Given the description of an element on the screen output the (x, y) to click on. 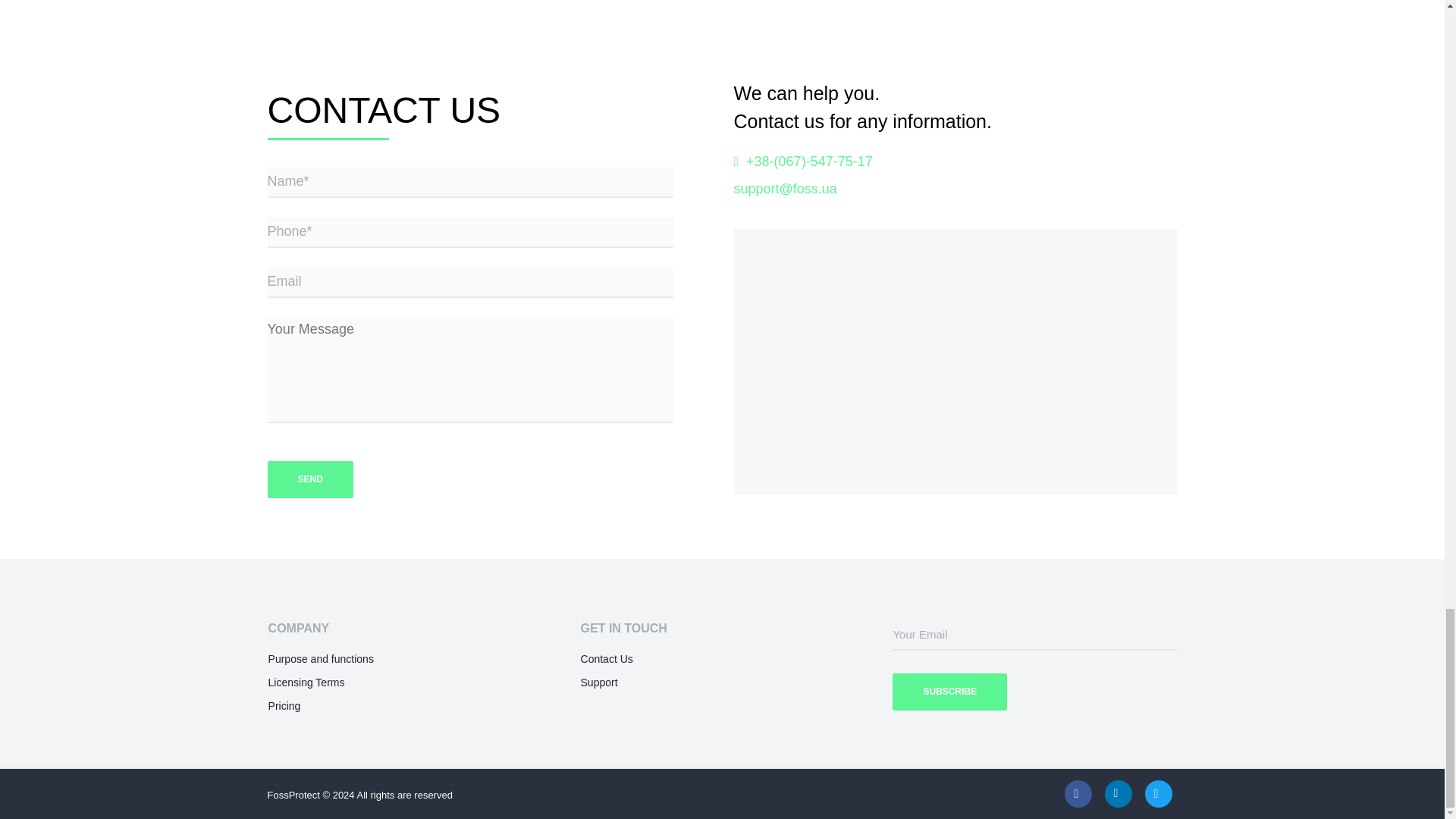
Purpose and functions (320, 658)
Send (309, 479)
Subscribe (949, 691)
Send (309, 479)
